Given the description of an element on the screen output the (x, y) to click on. 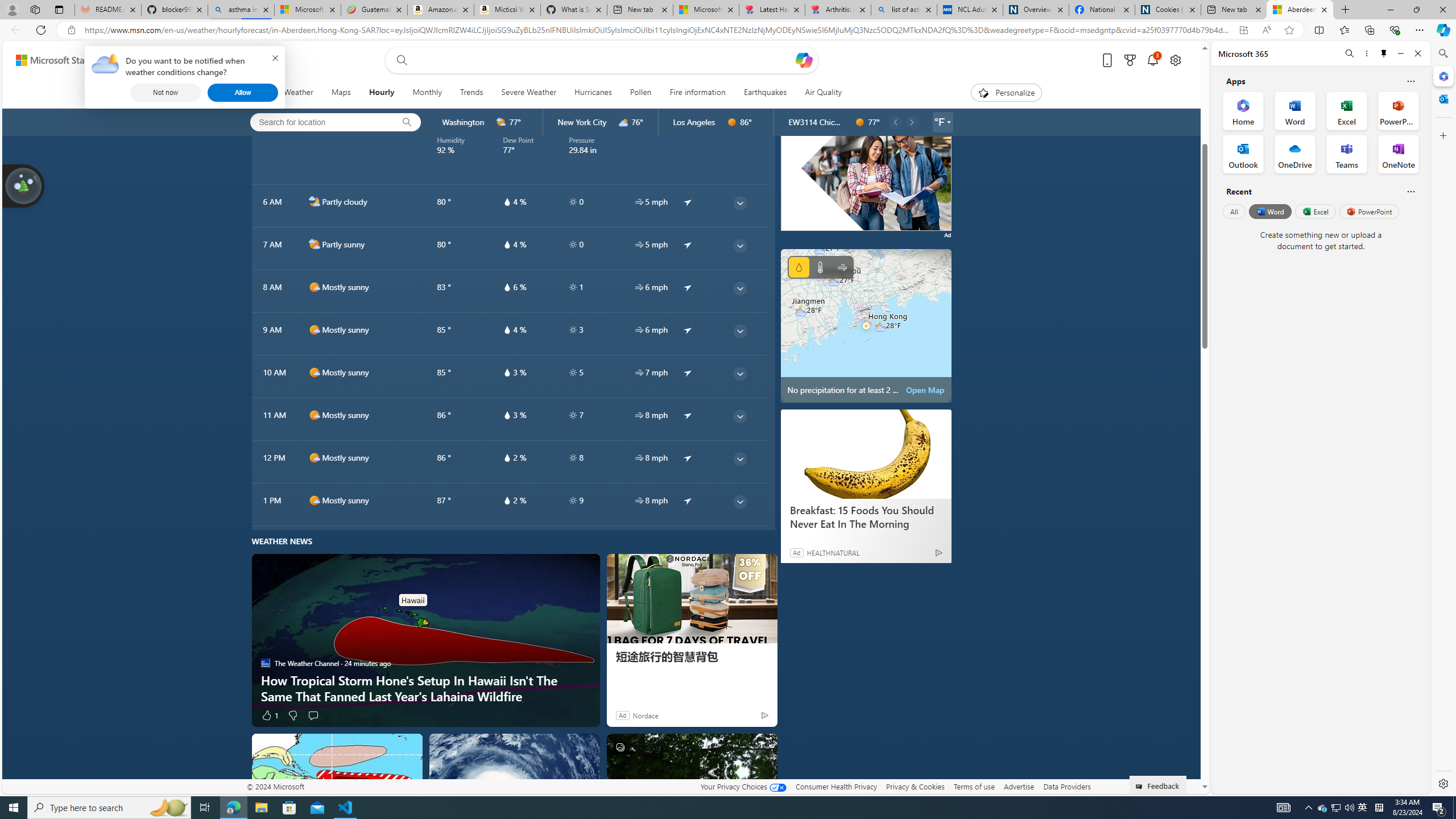
Hurricanes (592, 92)
Excel Office App (1346, 110)
Fire information (697, 92)
Hurricanes (593, 92)
Word Office App (1295, 110)
Breakfast: 15 Foods You Should Never Eat In The Morning (865, 516)
